Given the description of an element on the screen output the (x, y) to click on. 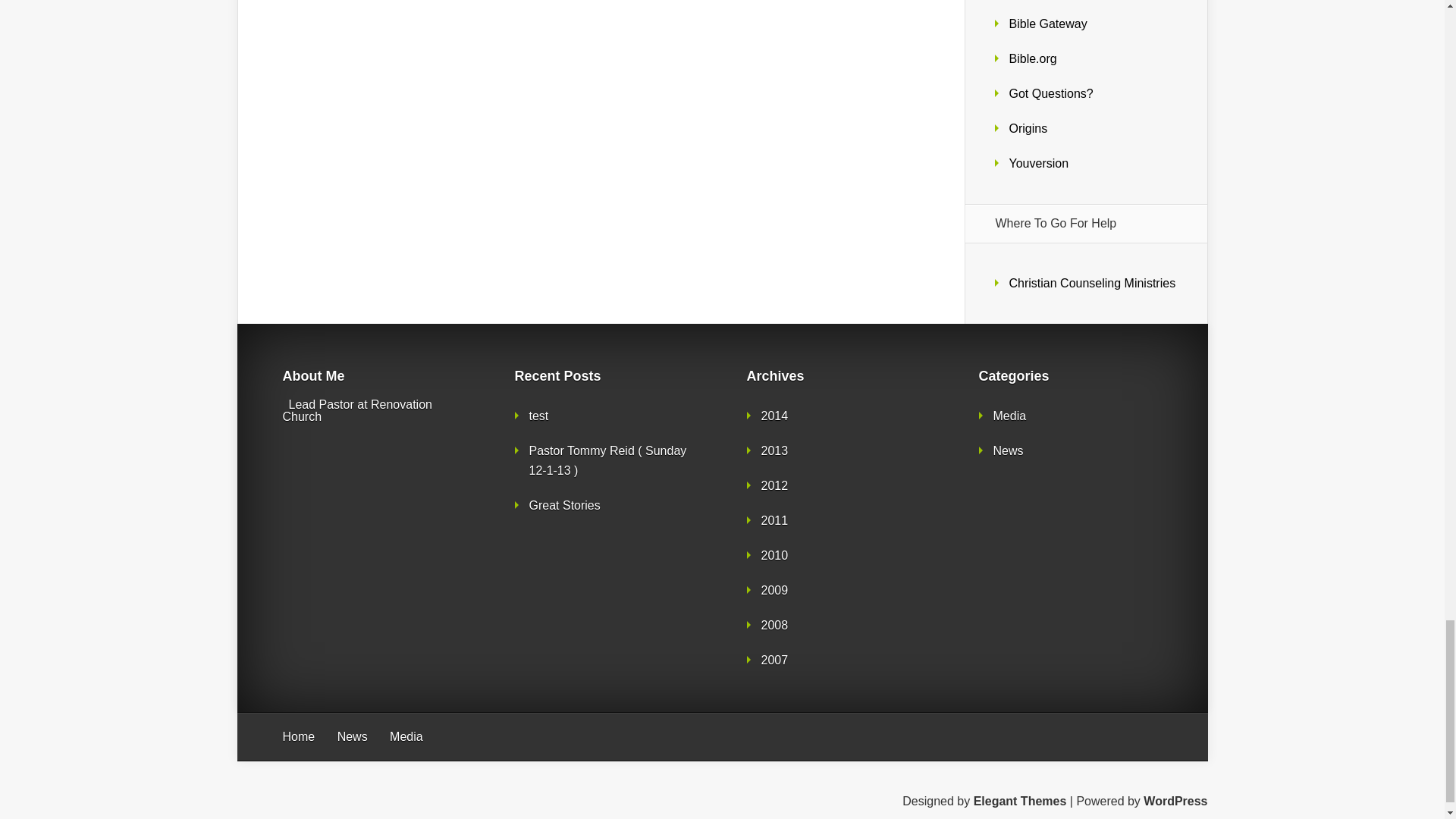
test (538, 415)
View all posts filed under News (1007, 450)
Great Stories (564, 504)
View all posts filed under Media (1009, 415)
Premium WordPress Themes (1020, 800)
